Given the description of an element on the screen output the (x, y) to click on. 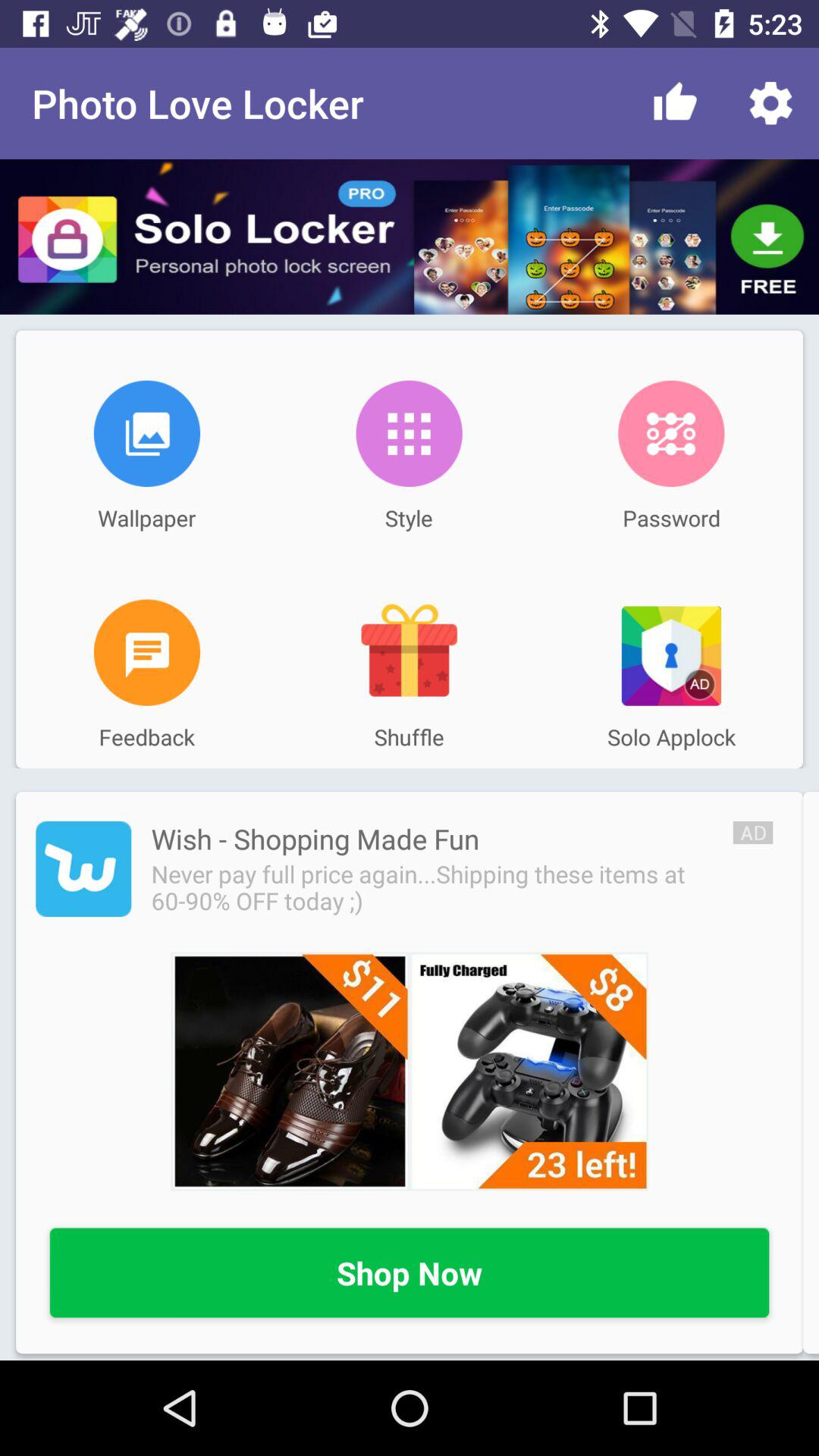
choose icon to the right of the feedback icon (409, 652)
